Given the description of an element on the screen output the (x, y) to click on. 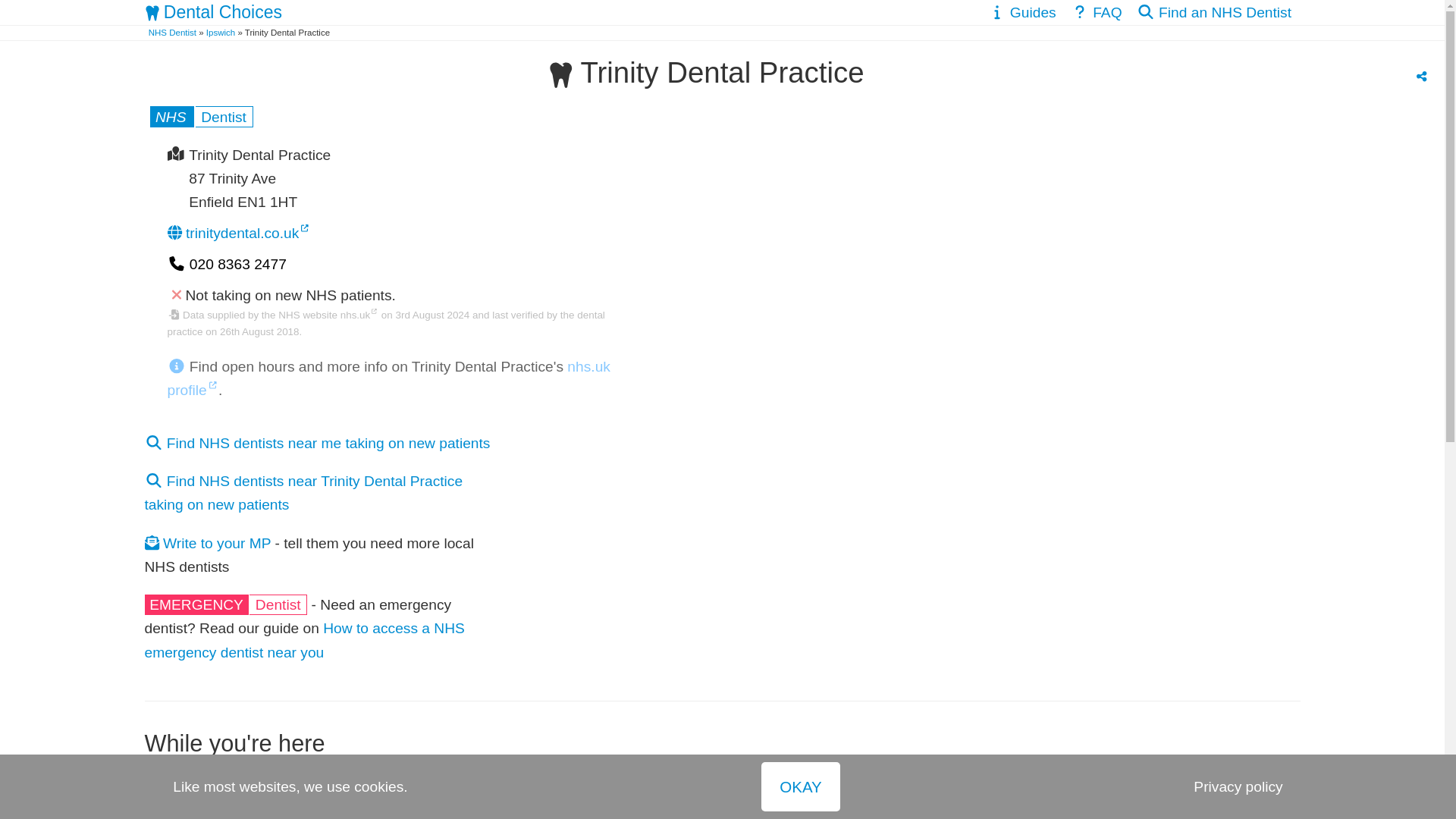
Find NHS dentists accepting new patients near you (1213, 11)
Guides (1020, 11)
020 8363 2477 (226, 263)
Ipswich (220, 31)
Call 020 8363 2477 (226, 263)
nhs.uk (359, 315)
Write to your MP (207, 543)
NHS Dentist (200, 116)
NHS Dentist (172, 31)
Frequently Asked Questions about dentistry in England (1095, 11)
trinitydental.co.uk (238, 232)
EMERGENCY Dentist (225, 604)
How to access a NHS emergency dentist near you (304, 639)
